Given the description of an element on the screen output the (x, y) to click on. 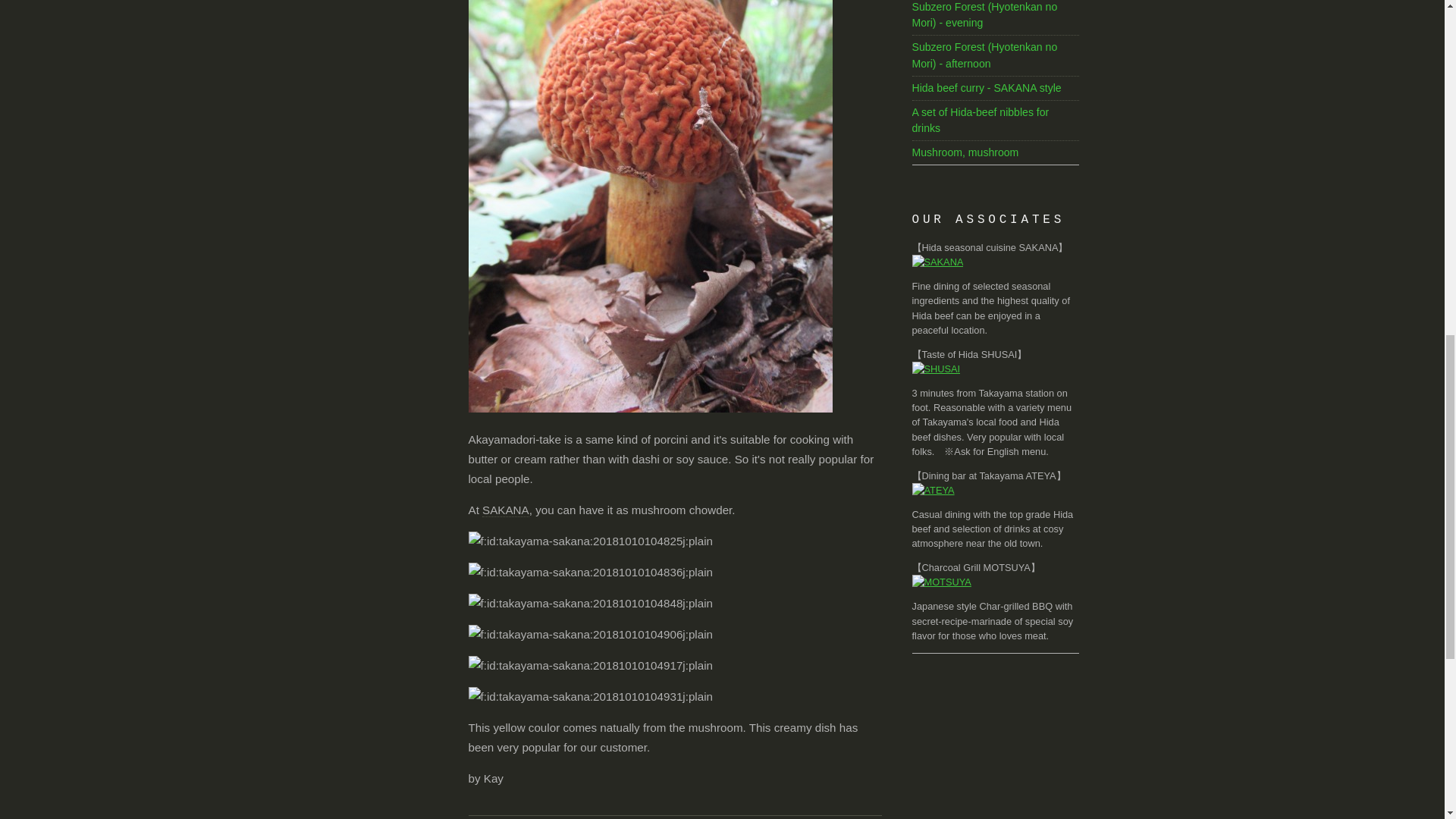
f:id:takayama-sakana:20181010104836j:plain (590, 572)
Mushroom, mushroom (964, 152)
SAKANA (505, 509)
f:id:takayama-sakana:20181010104906j:plain (590, 634)
f:id:takayama-sakana:20181010104825j:plain (590, 541)
Hida beef curry - SAKANA style (986, 87)
f:id:takayama-sakana:20181010104917j:plain (590, 665)
f:id:takayama-sakana:20181010104931j:plain (590, 696)
f:id:takayama-sakana:20181010104848j:plain (590, 603)
A set of Hida-beef nibbles for drinks (979, 120)
